Given the description of an element on the screen output the (x, y) to click on. 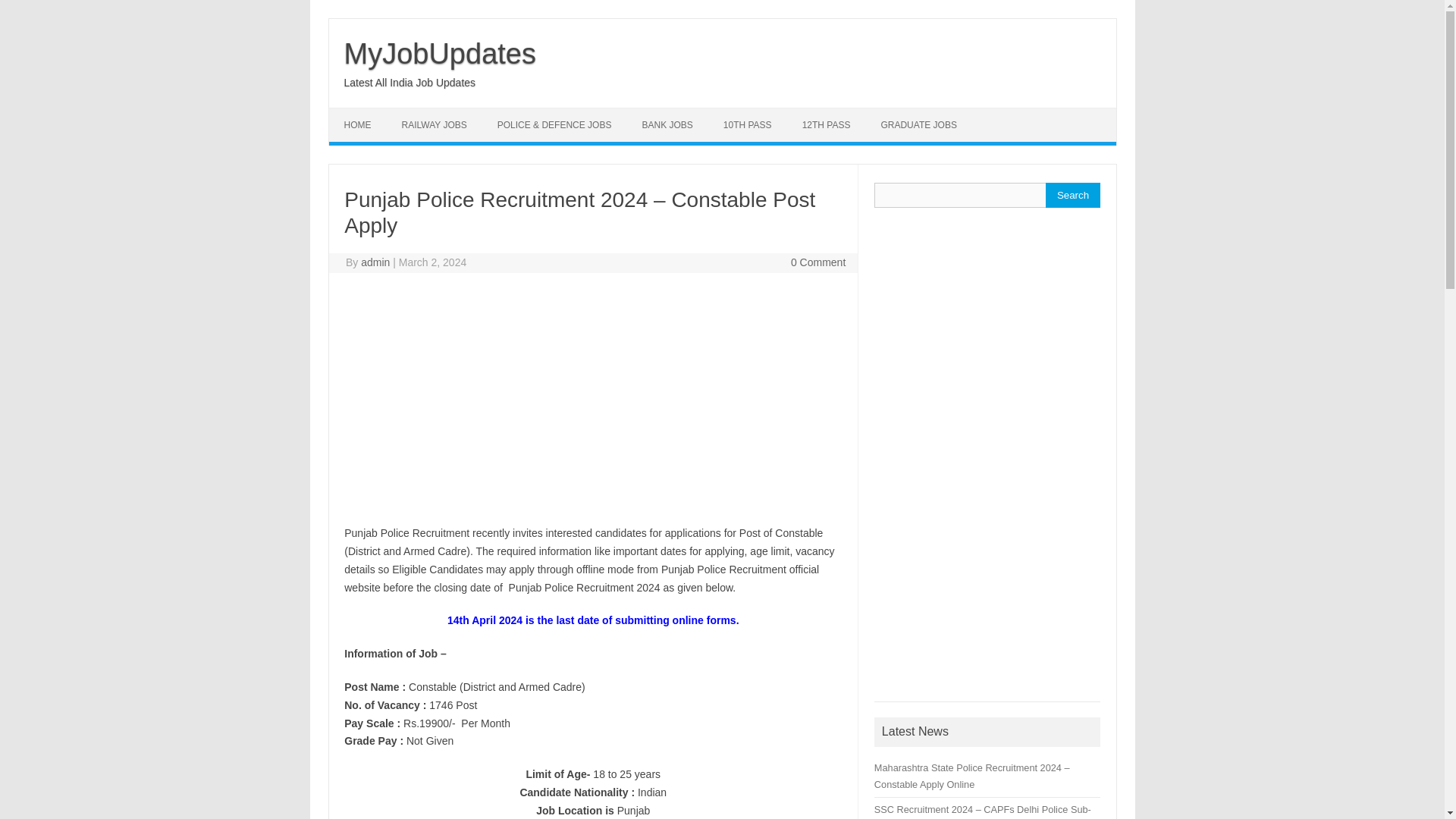
RAILWAY JOBS (434, 124)
BANK JOBS (666, 124)
admin (375, 262)
Search (1072, 195)
MyJobUpdates (439, 53)
Search (1072, 195)
Posts by admin (375, 262)
MyJobUpdates (439, 53)
HOME (358, 124)
GRADUATE JOBS (917, 124)
Advertisement (987, 450)
Latest All India Job Updates (409, 82)
12TH PASS (826, 124)
